Given the description of an element on the screen output the (x, y) to click on. 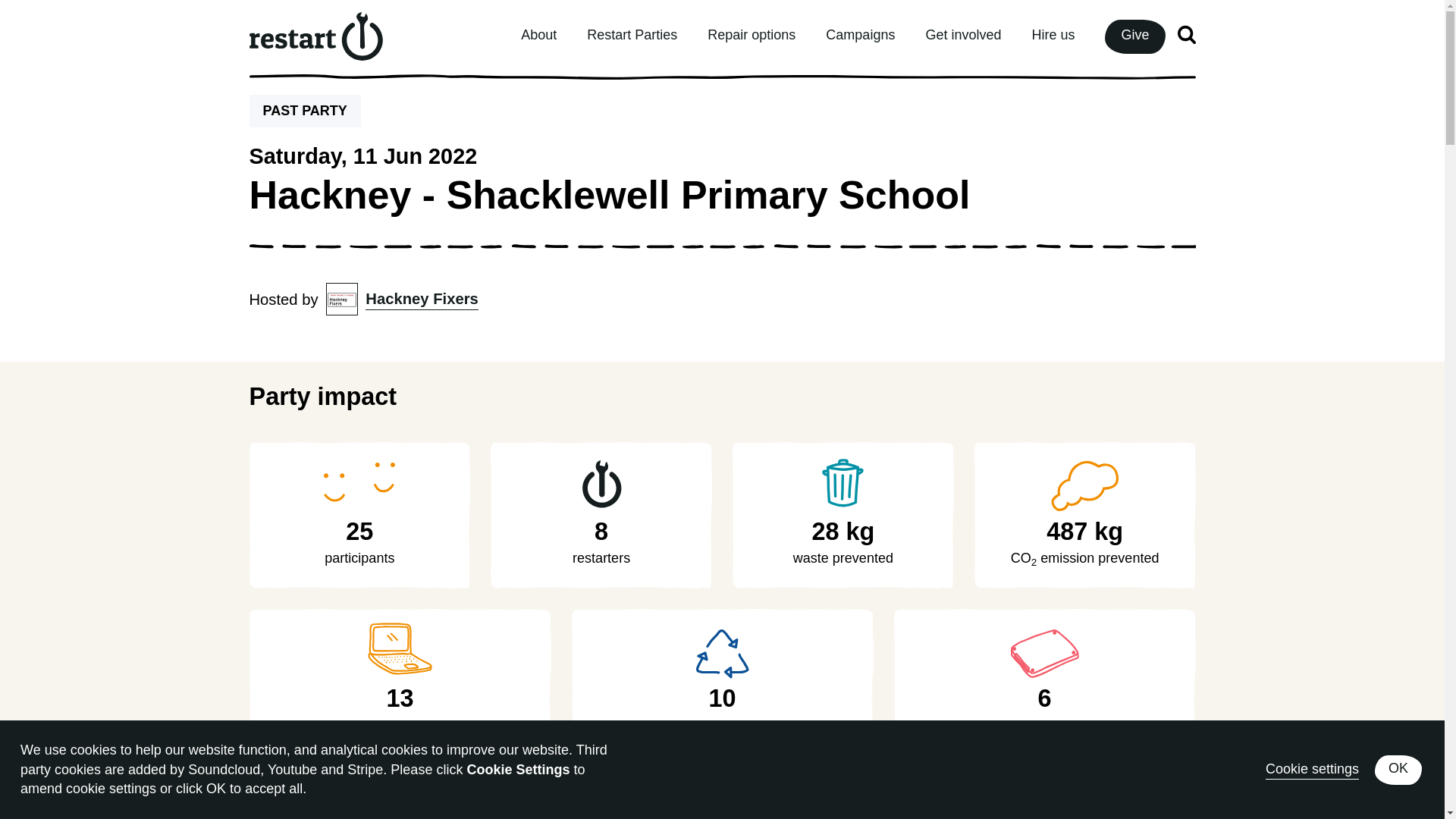
Hire us (1052, 35)
Get involved (962, 35)
Restart Parties (631, 35)
Campaigns (860, 35)
Hackney Fixers (421, 299)
About (538, 35)
Repair options (750, 35)
The Restart Project (316, 37)
Give (1134, 35)
